Given the description of an element on the screen output the (x, y) to click on. 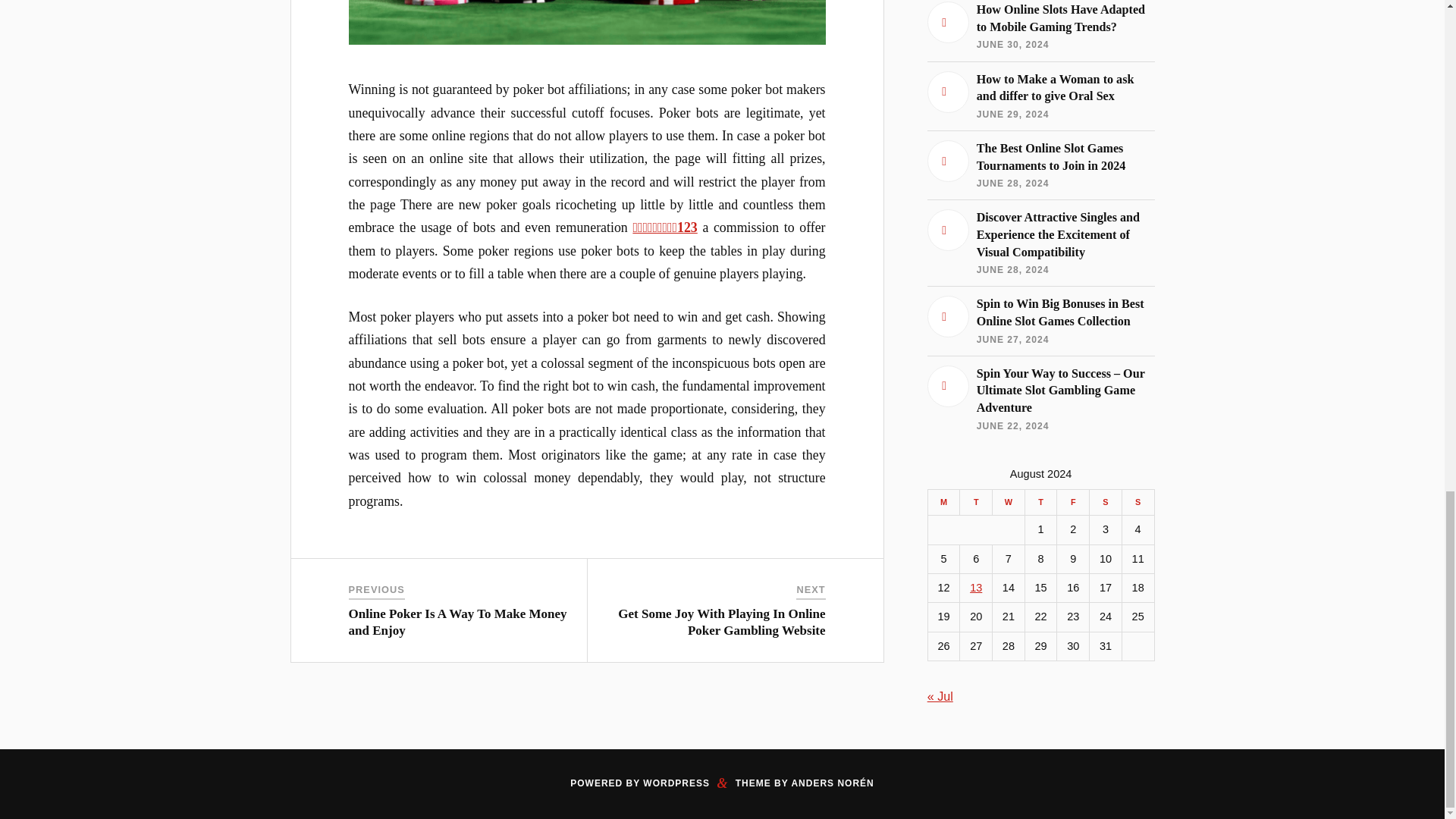
Tuesday (975, 502)
Thursday (1041, 502)
Monday (943, 502)
Get Some Joy With Playing In Online Poker Gambling Website (721, 622)
Sunday (1137, 502)
Saturday (1105, 502)
Friday (1073, 502)
Wednesday (1008, 502)
Online Poker Is A Way To Make Money and Enjoy (458, 622)
